Given the description of an element on the screen output the (x, y) to click on. 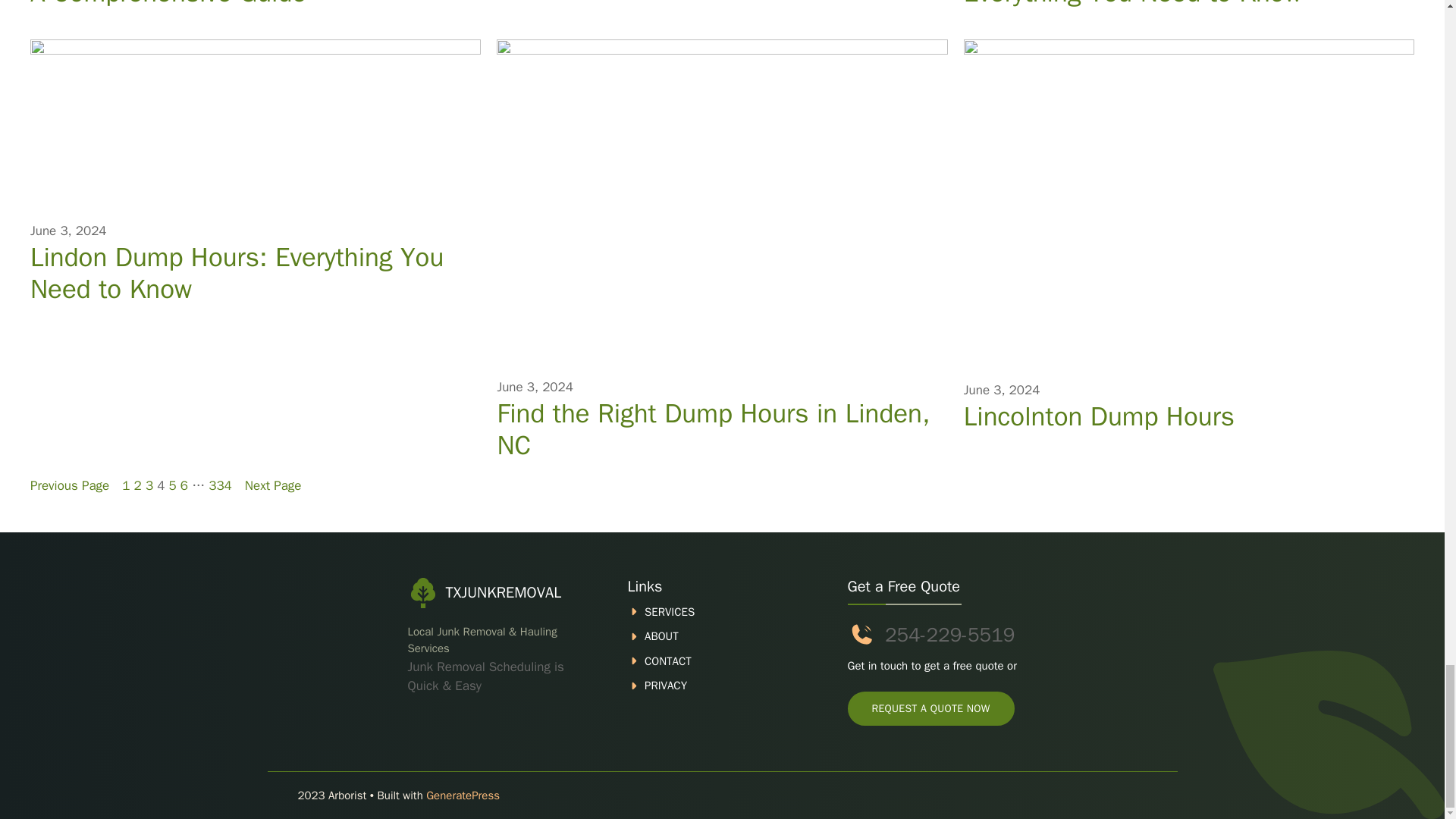
ABOUT (661, 635)
Next Page (272, 485)
Find the Right Dump Hours in Linden, NC (721, 429)
Lindon Dump Hours: Everything You Need to Know (255, 272)
Lincoln County, Wyoming Dump Hours: A Comprehensive Guide (255, 4)
Previous Page (69, 485)
Lincoln County, WI Dump Hours: Everything You Need to Know (1188, 4)
334 (219, 485)
SERVICES (669, 612)
CONTACT (668, 661)
